Given the description of an element on the screen output the (x, y) to click on. 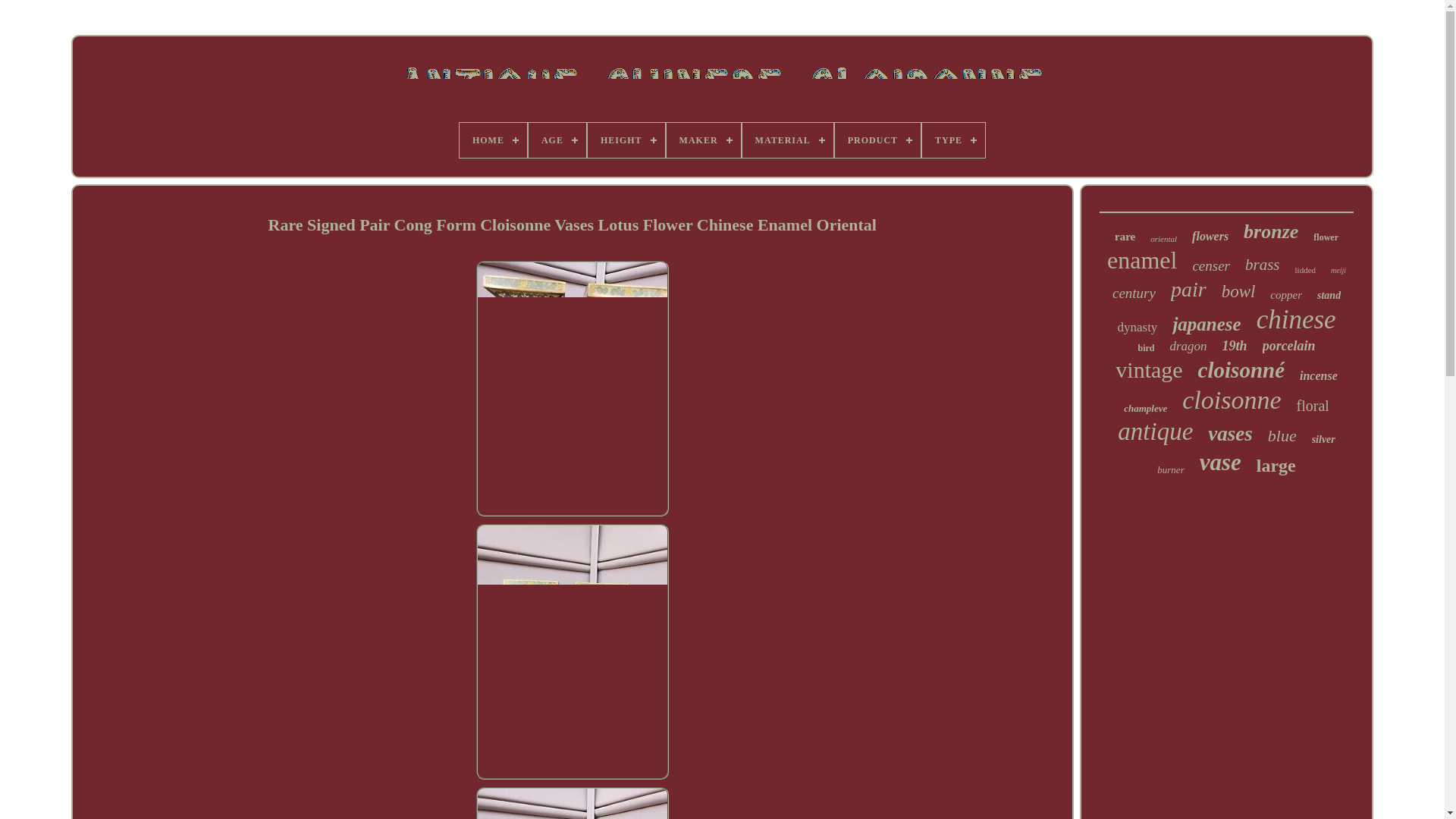
HEIGHT (626, 140)
MAKER (703, 140)
MATERIAL (787, 140)
HOME (493, 140)
AGE (557, 140)
PRODUCT (877, 140)
